Given the description of an element on the screen output the (x, y) to click on. 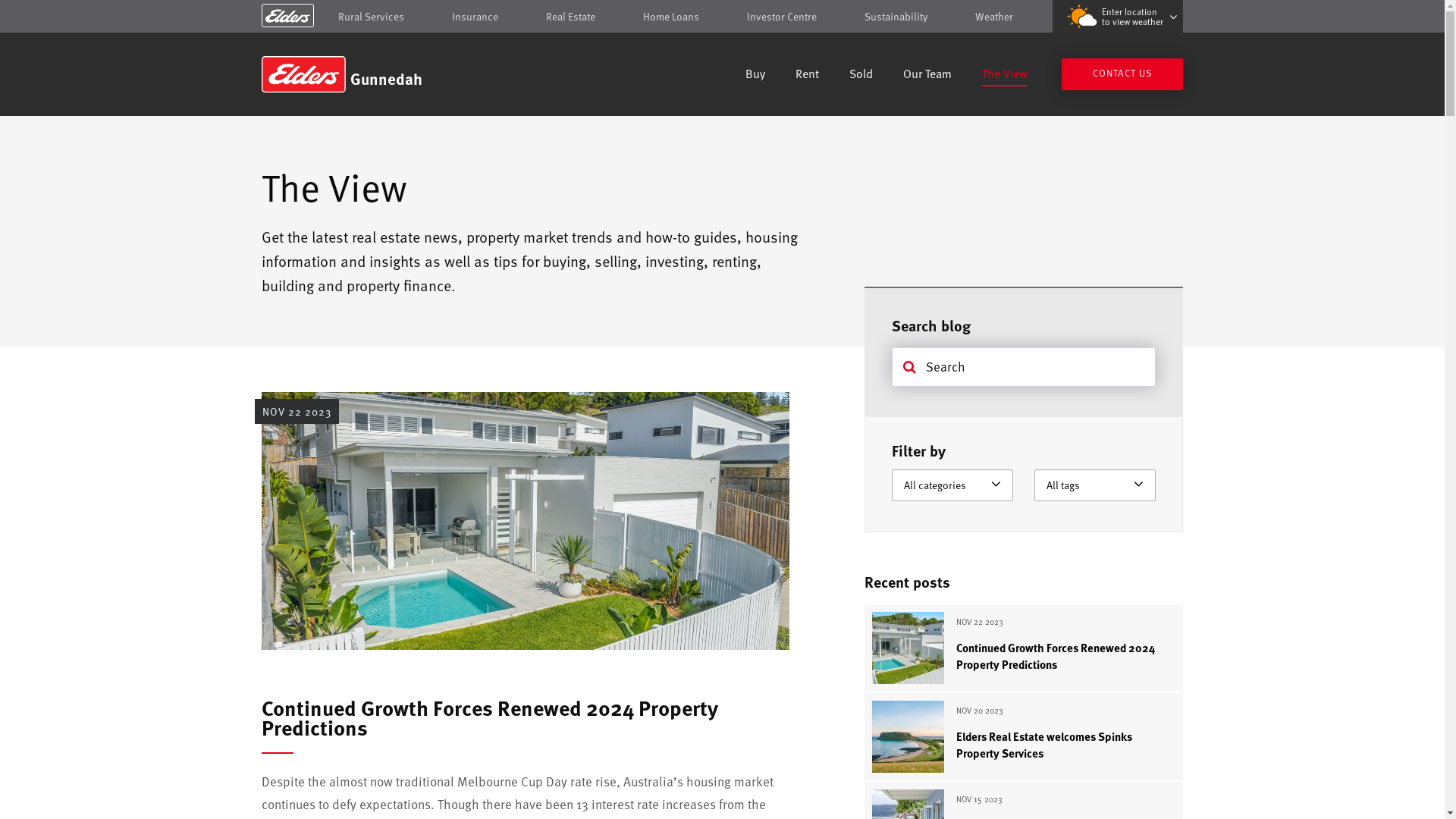
Gunnedah Element type: text (369, 74)
Weather Element type: text (994, 16)
Our Team Element type: text (927, 75)
Home Loans Element type: text (671, 16)
Enter location to view weather Element type: text (1117, 16)
Sold Element type: text (860, 75)
The View Element type: text (1004, 75)
Continued Growth Forces Renewed 2024 Property Predictions Element type: text (489, 717)
Sustainability Element type: text (895, 16)
Rural Services Element type: text (371, 16)
Skip to content Element type: text (722, 17)
Investor Centre Element type: text (781, 16)
Insurance Element type: text (474, 16)
Real Estate Element type: text (570, 16)
Buy Element type: text (755, 75)
CONTACT US Element type: text (1122, 74)
Rent Element type: text (807, 75)
